Given the description of an element on the screen output the (x, y) to click on. 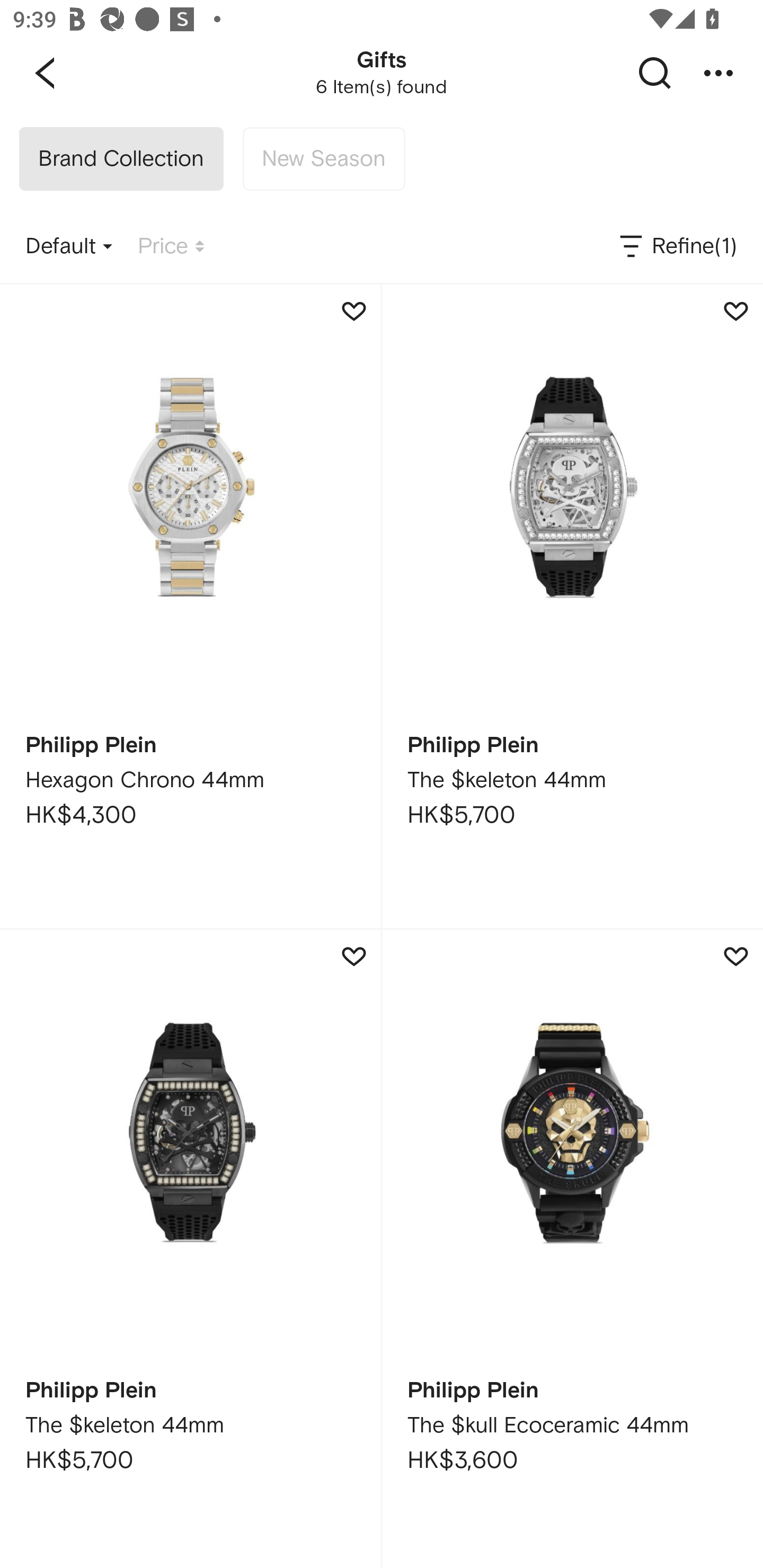
Brand Collection (121, 158)
New Season (323, 158)
Default (68, 246)
Price (171, 246)
Refine(1) (677, 246)
Philipp Plein Hexagon Chrono 44mm HK$4,300 (190, 605)
Philipp Plein The $keleton 44mm HK$5,700 (572, 605)
Philipp Plein The $keleton 44mm HK$5,700 (190, 1248)
Philipp Plein The $kull Ecoceramic 44mm HK$3,600 (572, 1248)
